Given the description of an element on the screen output the (x, y) to click on. 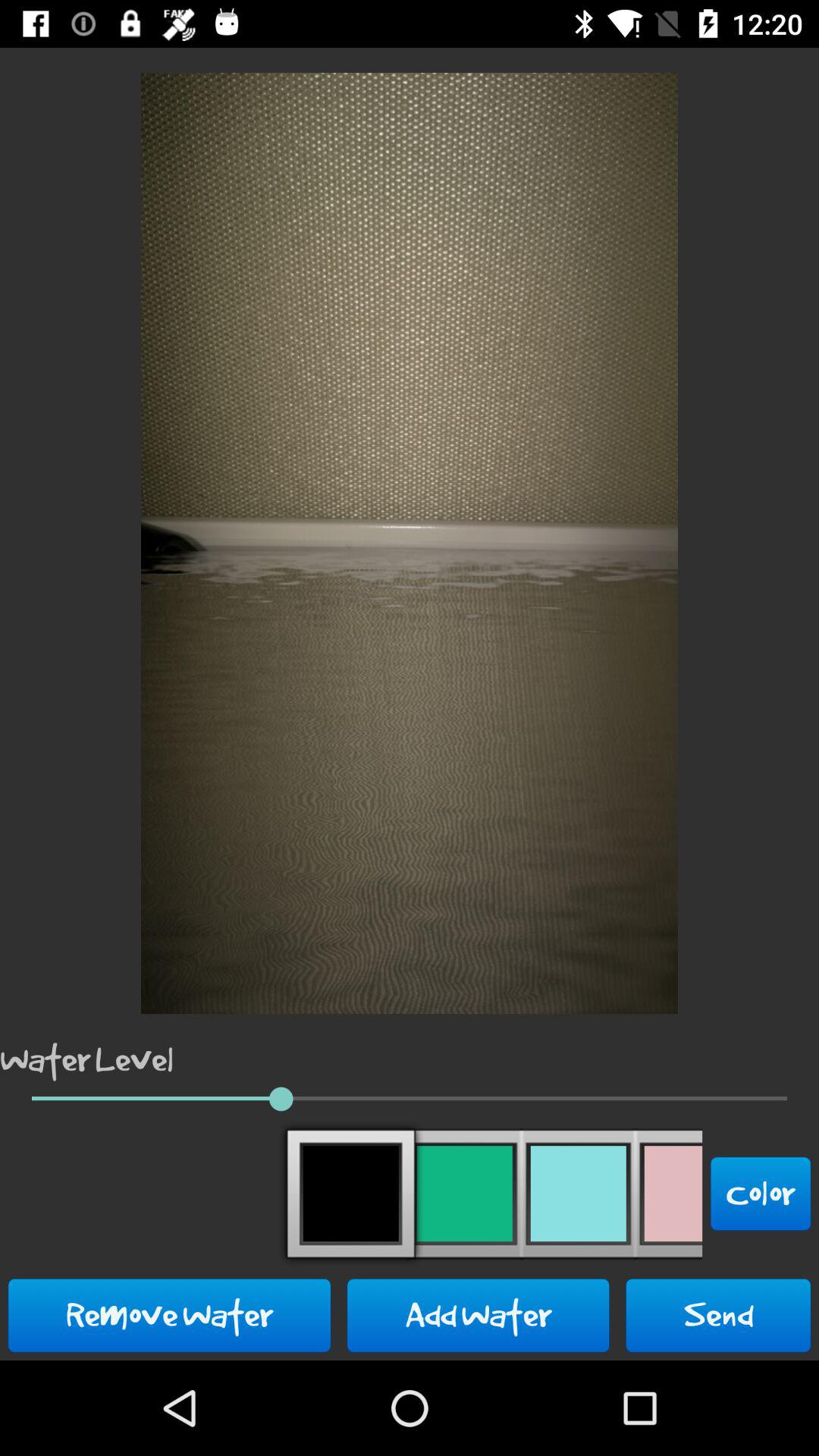
select the item next to remove water item (477, 1315)
